Given the description of an element on the screen output the (x, y) to click on. 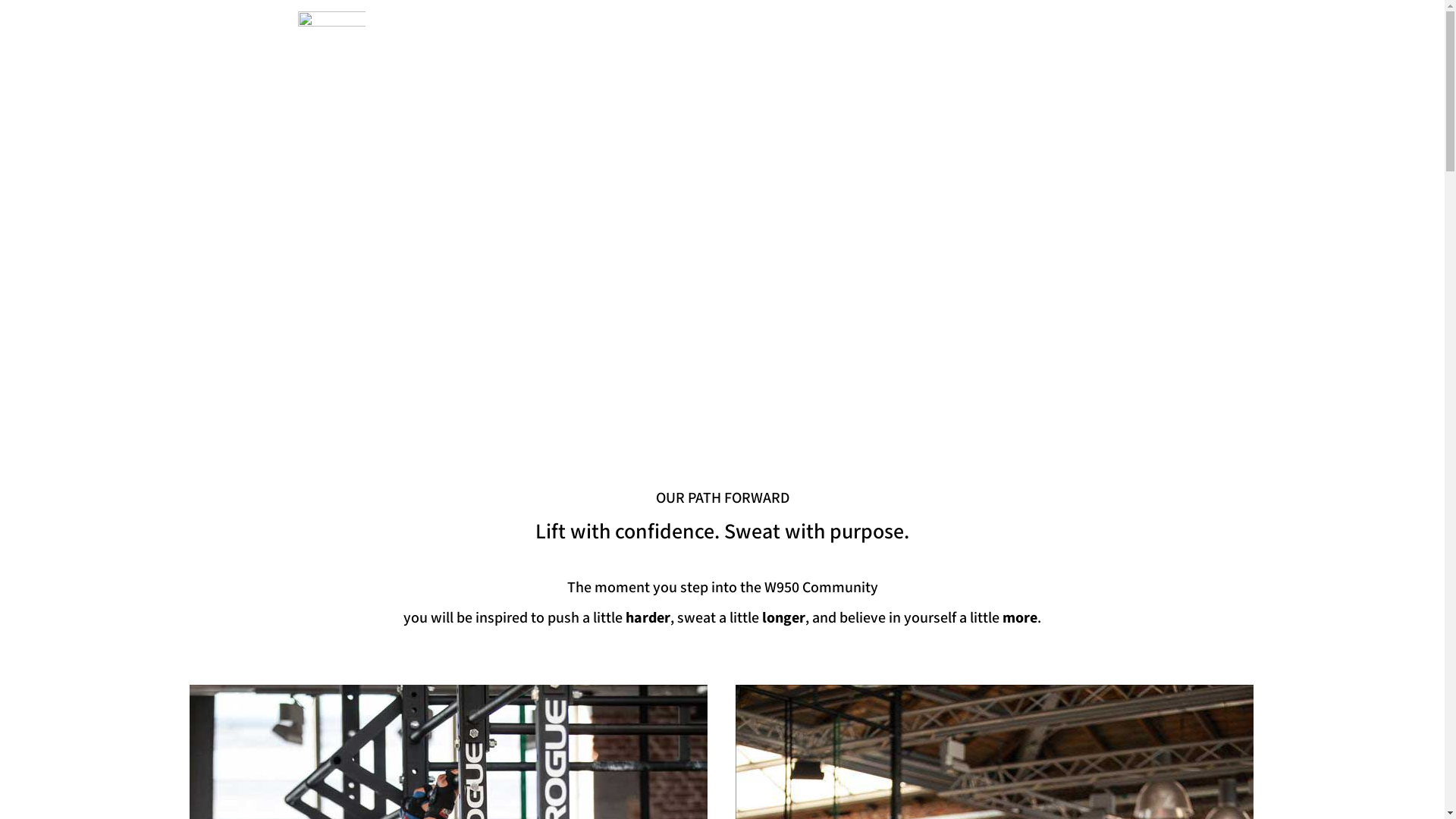
KIDS Element type: text (986, 28)
CLASS SCHEDULE Element type: text (836, 28)
JOIN US Element type: text (1098, 26)
PRICING Element type: text (926, 28)
